Given the description of an element on the screen output the (x, y) to click on. 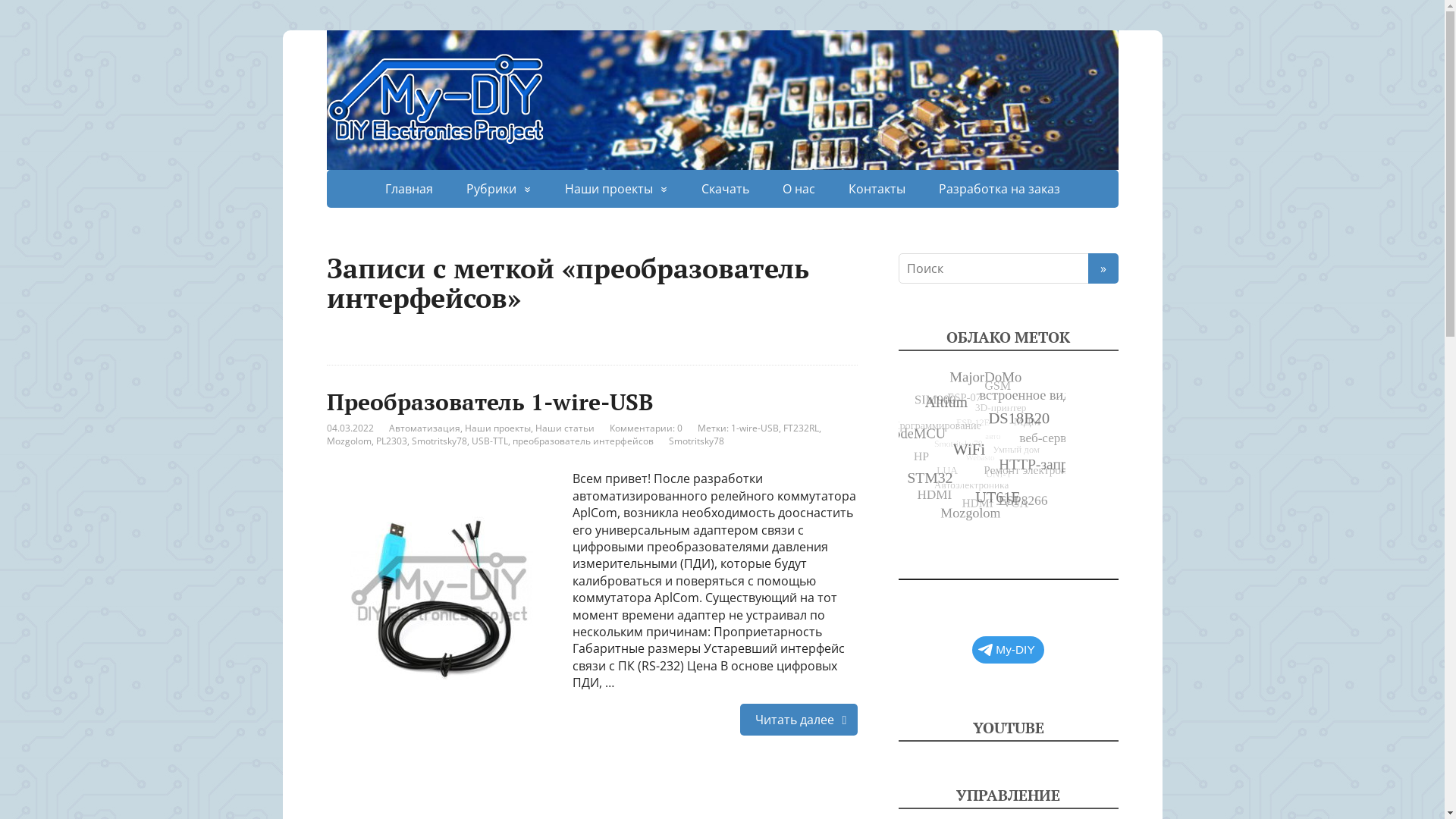
USB-TTL Element type: text (489, 440)
PL2303 Element type: text (391, 440)
FT232RL Element type: text (800, 427)
Mozgolom Element type: text (348, 440)
My-DIY Element type: text (1007, 649)
1-wire-USB Element type: text (754, 427)
Smotritsky78 Element type: text (438, 440)
